Given the description of an element on the screen output the (x, y) to click on. 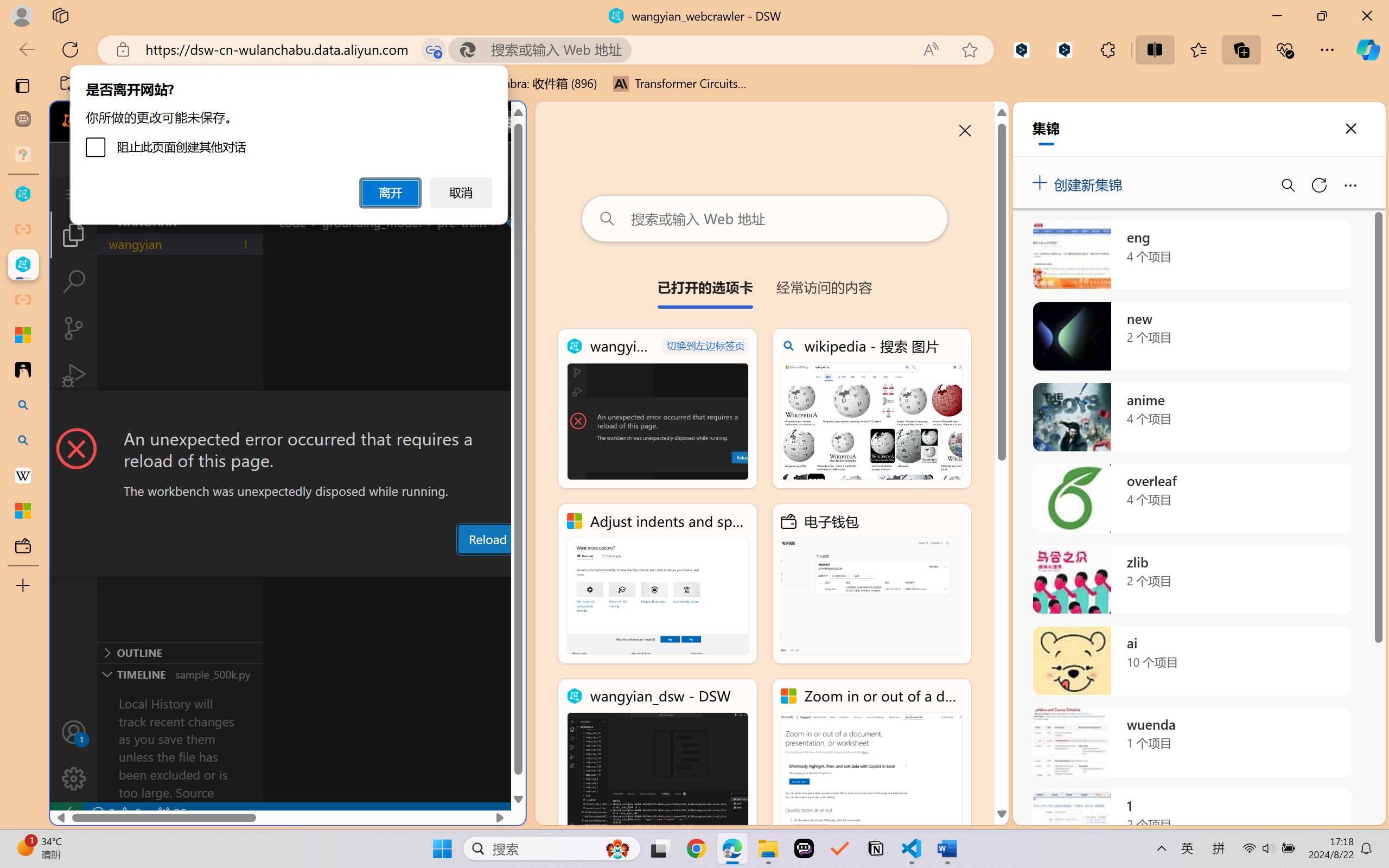
Run and Debug (Ctrl+Shift+D) (73, 375)
Accounts - Sign in requested (73, 732)
